Given the description of an element on the screen output the (x, y) to click on. 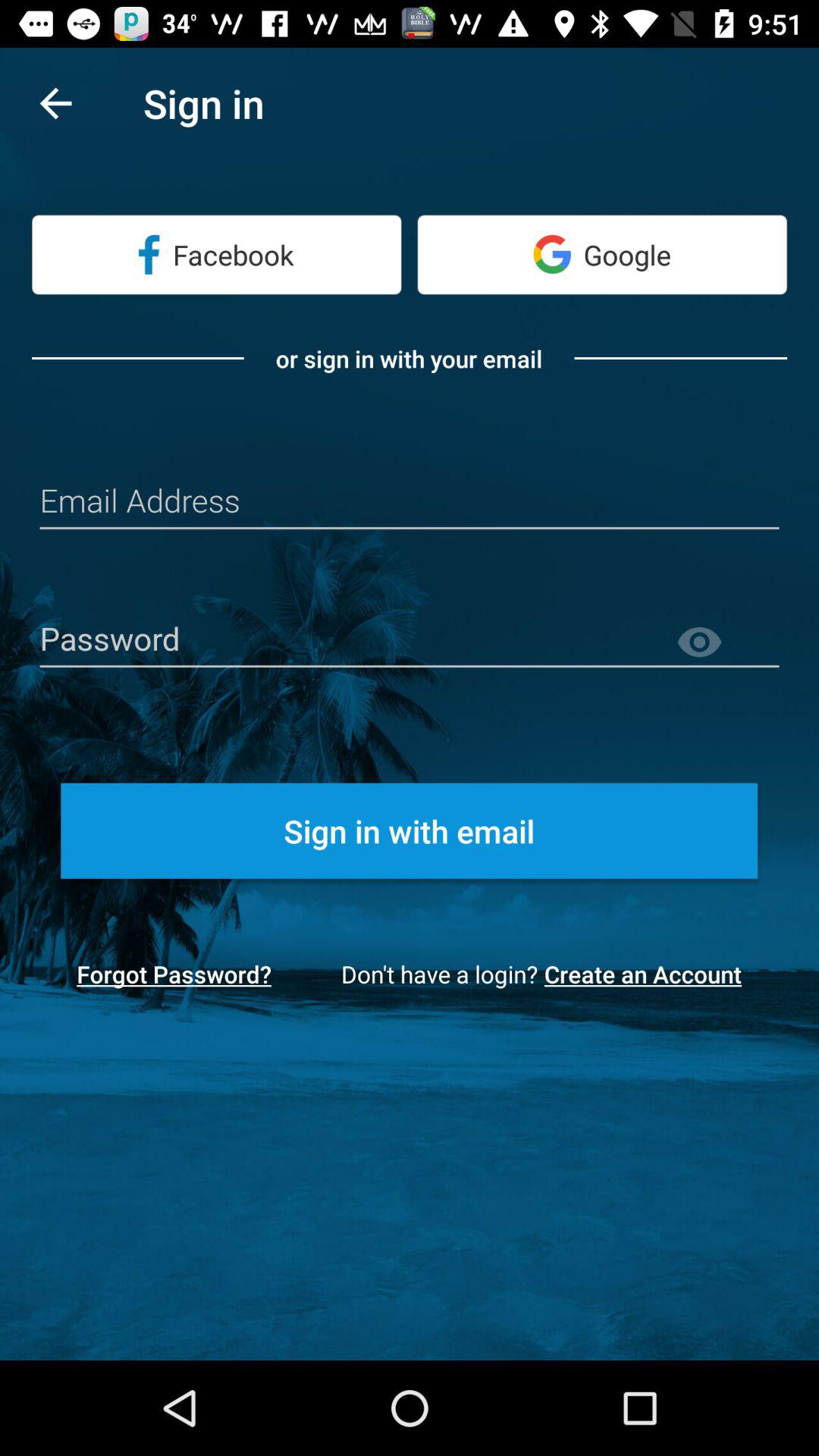
choose the item at the bottom left corner (173, 974)
